Given the description of an element on the screen output the (x, y) to click on. 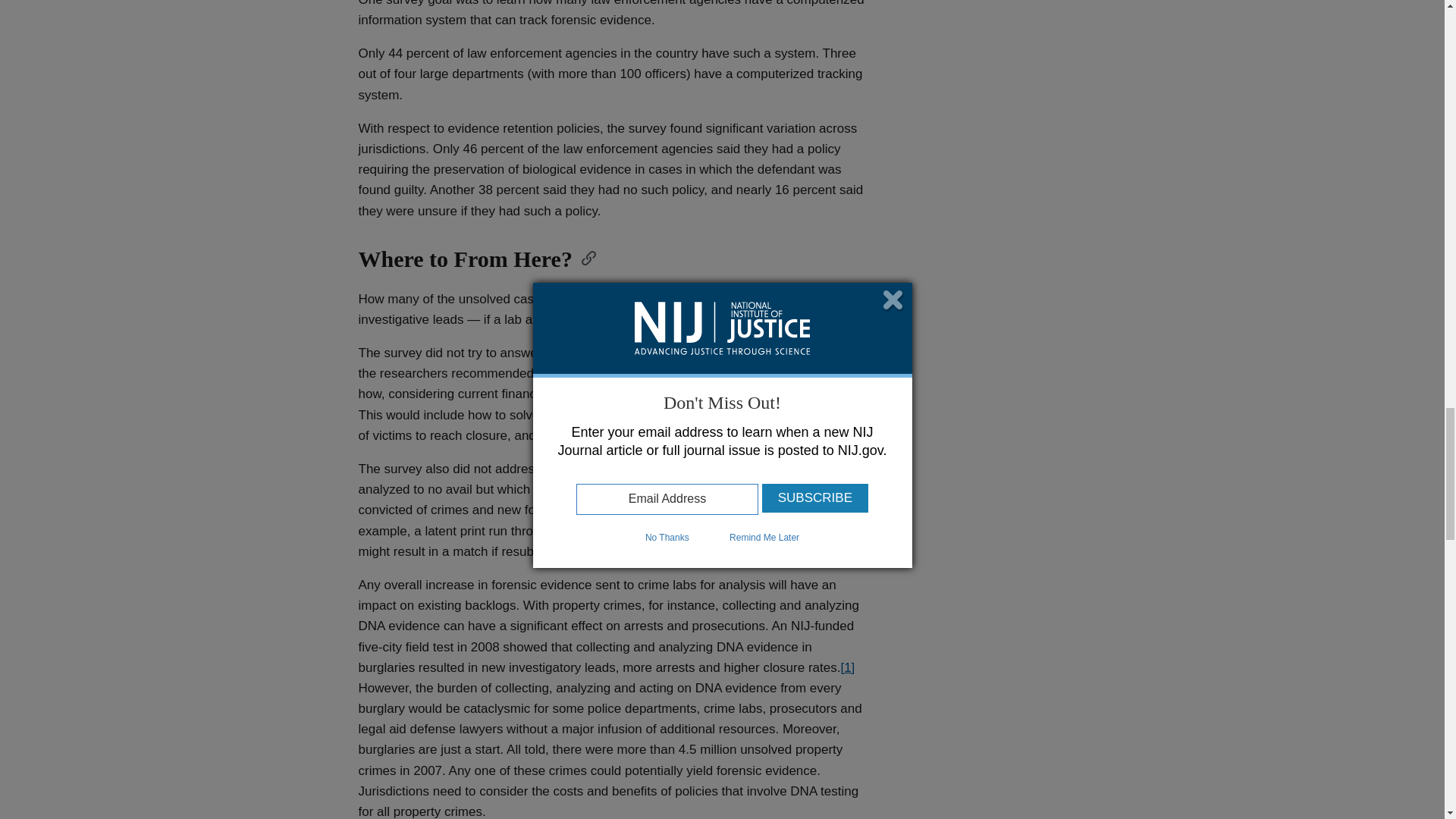
Copy link to section: Where to From Here? (583, 256)
